Given the description of an element on the screen output the (x, y) to click on. 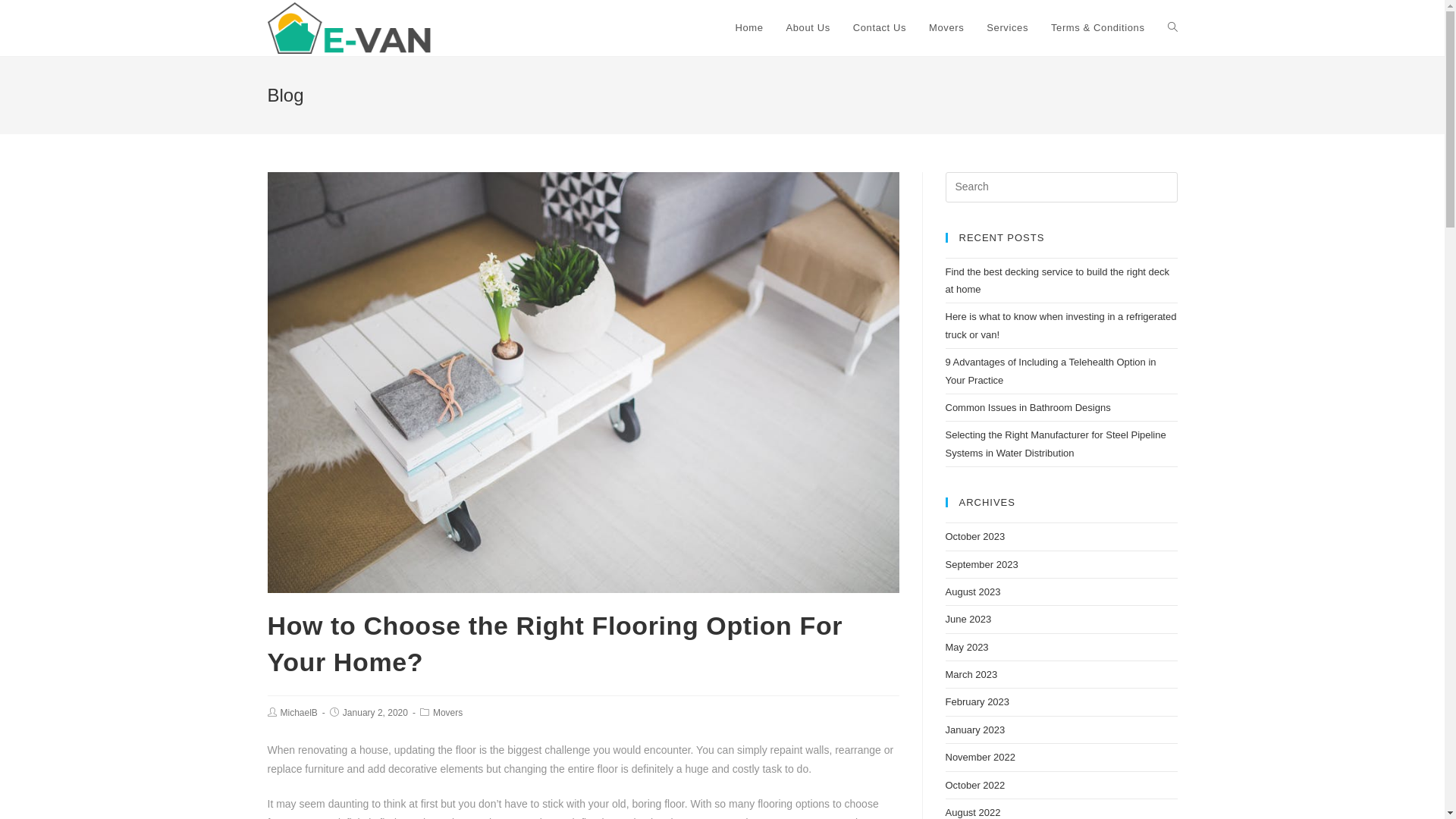
February 2023 Element type: text (976, 701)
Home Element type: text (748, 28)
August 2023 Element type: text (972, 591)
May 2023 Element type: text (966, 646)
MichaelB Element type: text (298, 712)
Contact Us Element type: text (879, 28)
Terms & Conditions Element type: text (1097, 28)
November 2022 Element type: text (979, 756)
June 2023 Element type: text (967, 618)
January 2023 Element type: text (974, 729)
October 2022 Element type: text (974, 784)
Services Element type: text (1007, 28)
Movers Element type: text (946, 28)
March 2023 Element type: text (970, 674)
August 2022 Element type: text (972, 812)
September 2023 Element type: text (980, 563)
October 2023 Element type: text (974, 536)
About Us Element type: text (808, 28)
Movers Element type: text (447, 712)
Common Issues in Bathroom Designs Element type: text (1027, 407)
